Given the description of an element on the screen output the (x, y) to click on. 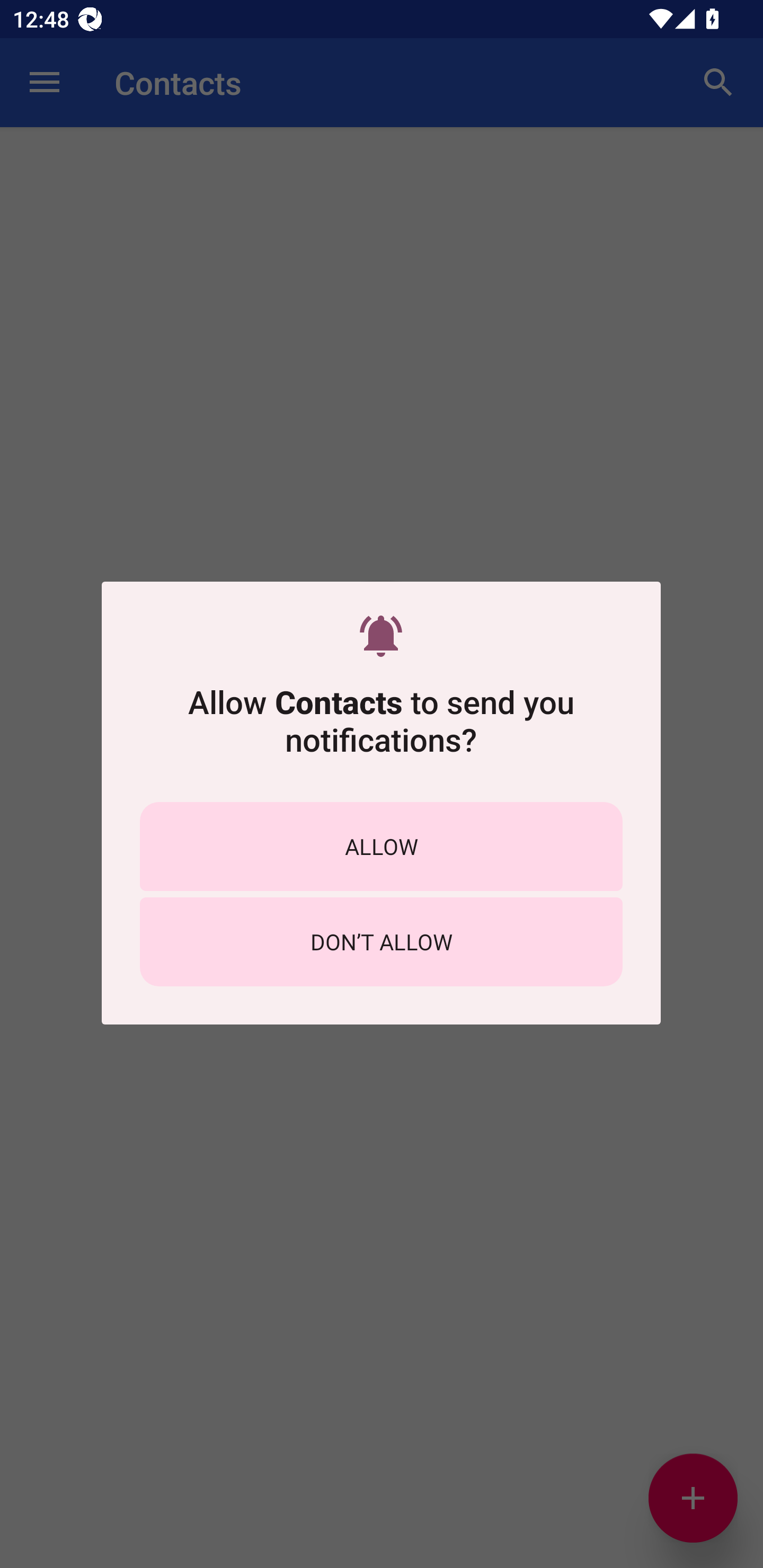
ALLOW (380, 845)
DON’T ALLOW (380, 941)
